Given the description of an element on the screen output the (x, y) to click on. 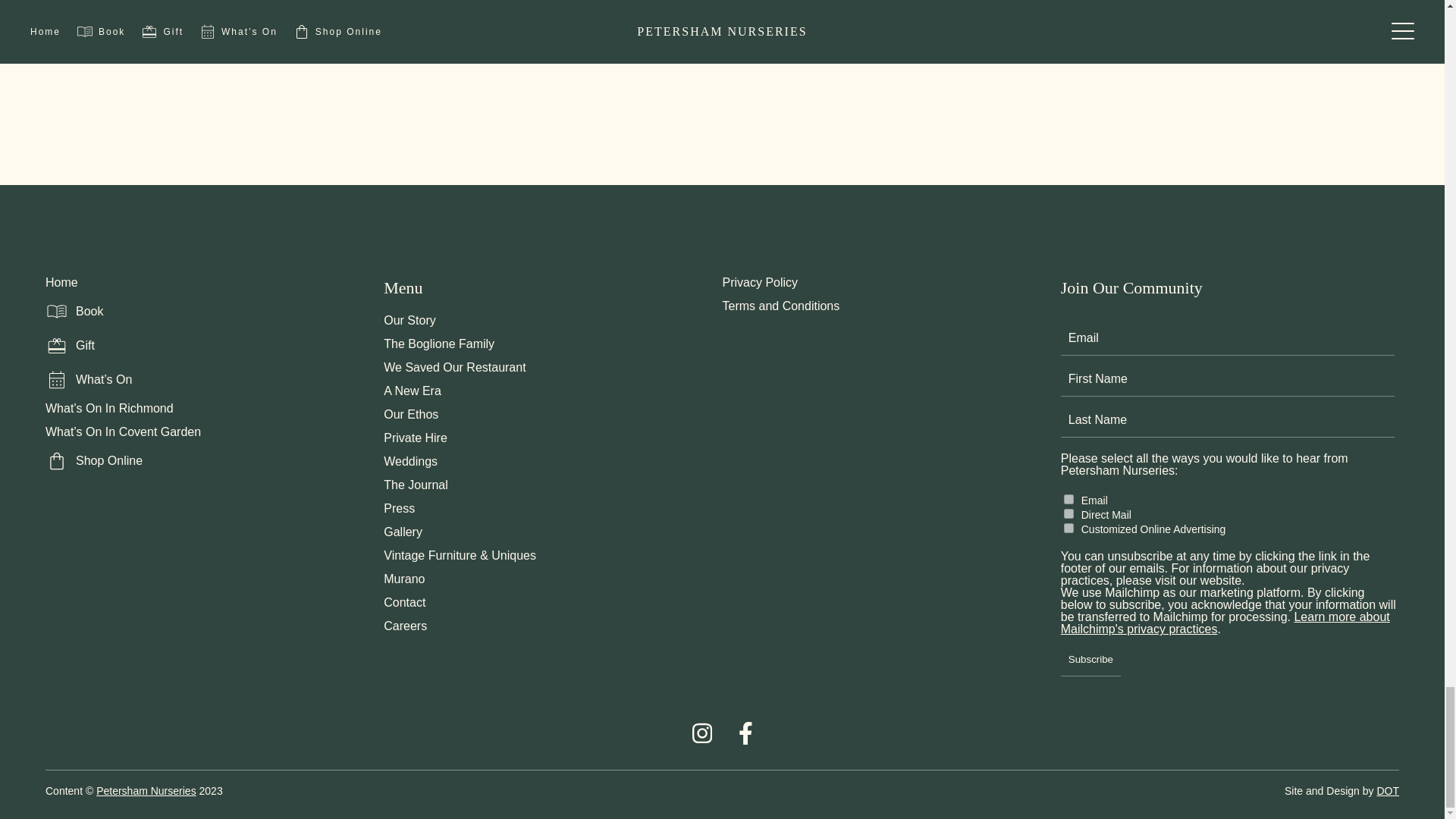
Y (1069, 513)
Y (1069, 528)
facebook (745, 739)
Y (1069, 499)
Subscribe (1091, 655)
